Given the description of an element on the screen output the (x, y) to click on. 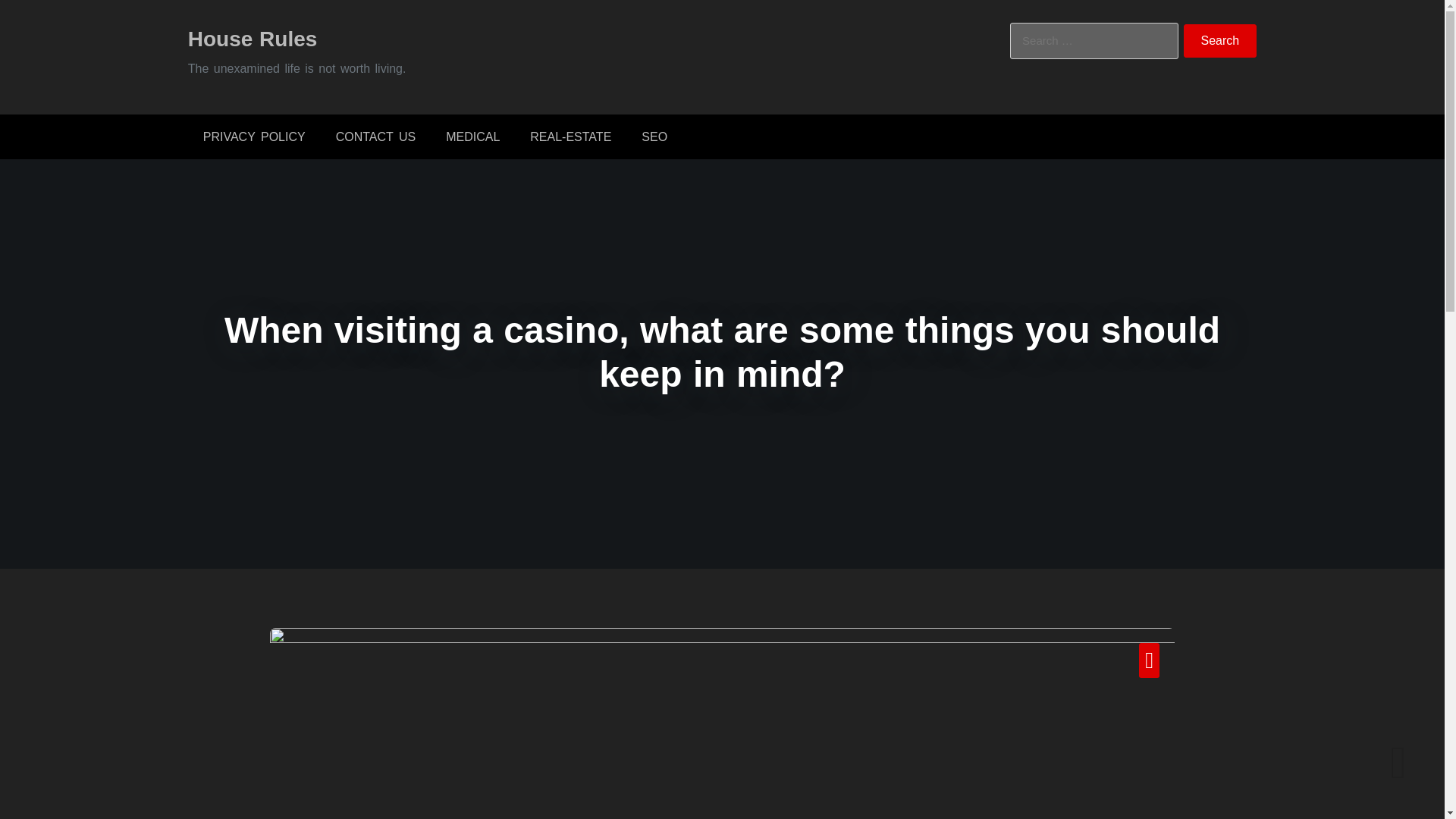
CONTACT US (375, 136)
MEDICAL (472, 136)
House Rules (252, 38)
REAL-ESTATE (570, 136)
Search (1220, 40)
PRIVACY POLICY (253, 136)
SEO (654, 136)
Search (1220, 40)
Search (1220, 40)
